Given the description of an element on the screen output the (x, y) to click on. 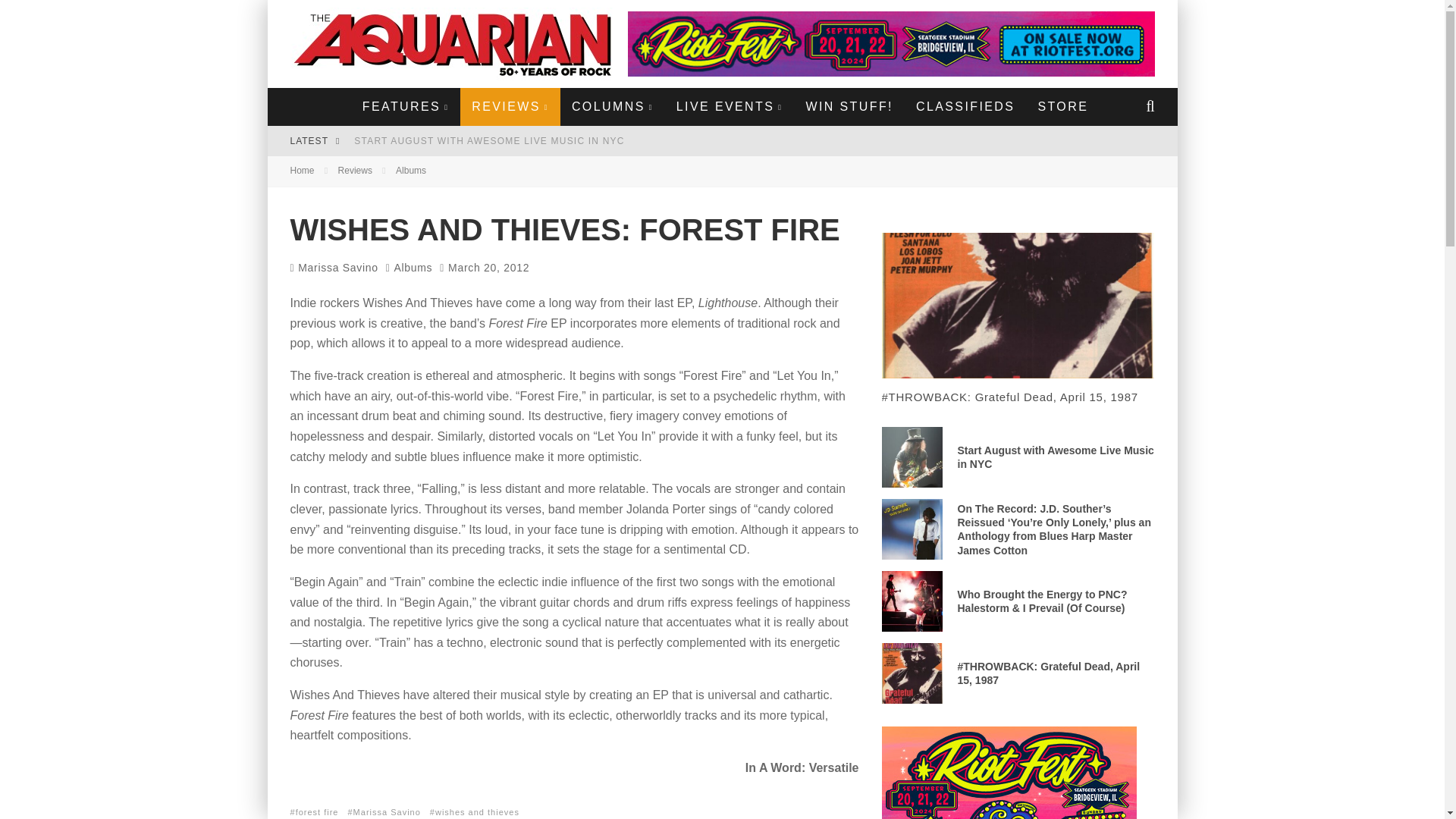
Start August with Awesome Live Music in NYC (488, 140)
COLUMNS (612, 106)
FEATURES (405, 106)
REVIEWS (510, 106)
